Given the description of an element on the screen output the (x, y) to click on. 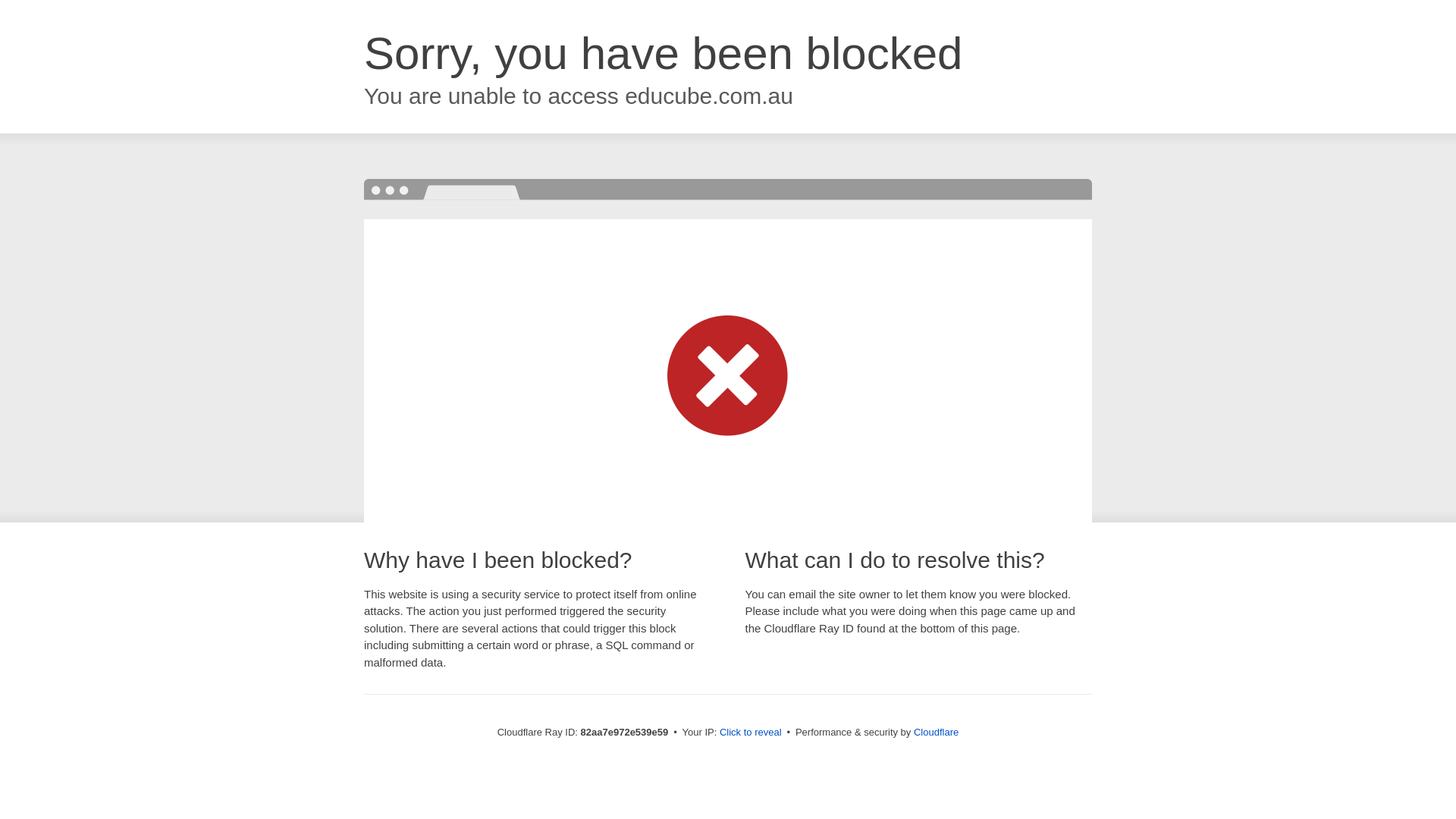
Click to reveal Element type: text (750, 732)
Cloudflare Element type: text (935, 731)
